Given the description of an element on the screen output the (x, y) to click on. 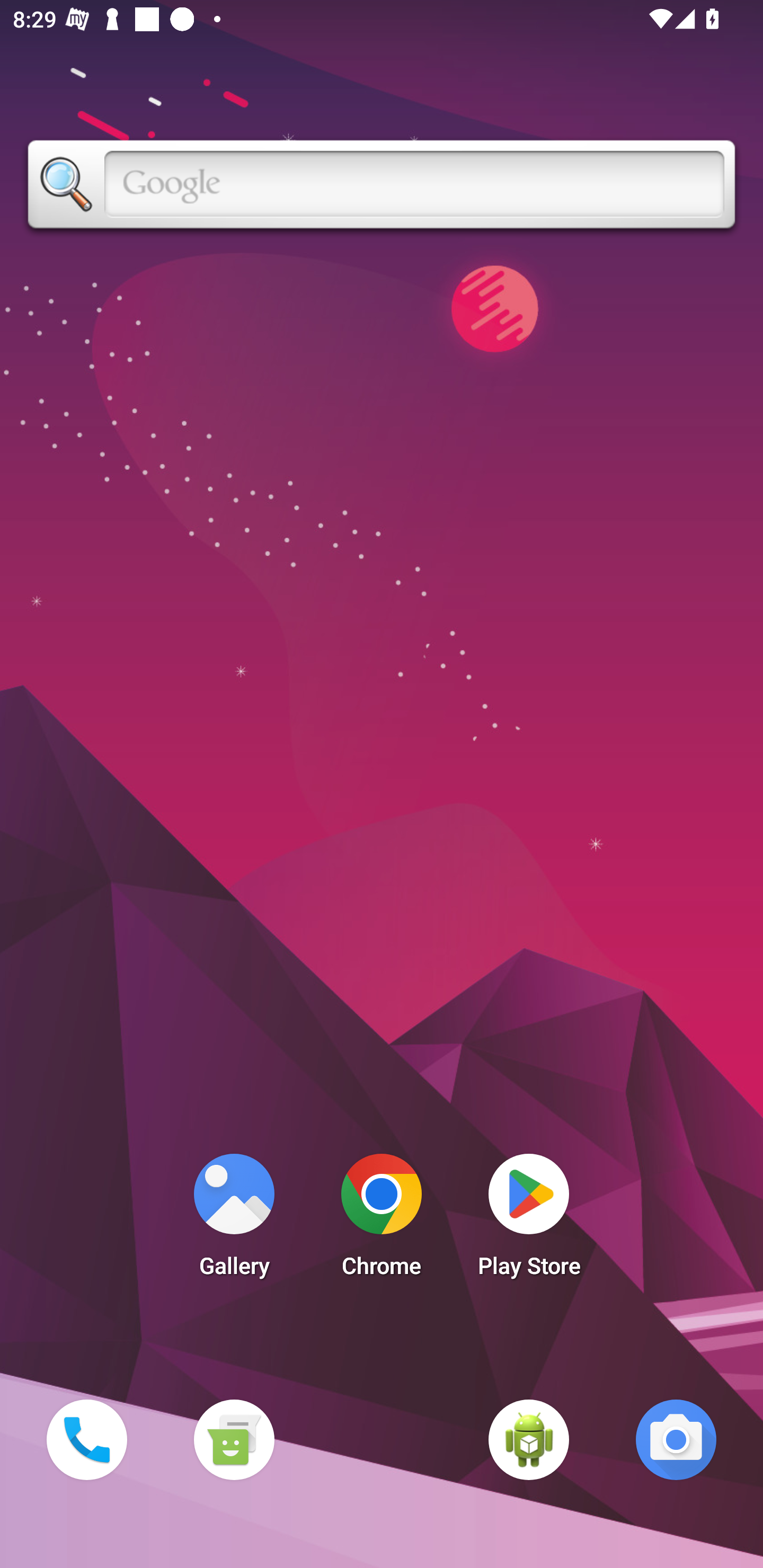
Gallery (233, 1220)
Chrome (381, 1220)
Play Store (528, 1220)
Phone (86, 1439)
Messaging (233, 1439)
WebView Browser Tester (528, 1439)
Camera (676, 1439)
